Given the description of an element on the screen output the (x, y) to click on. 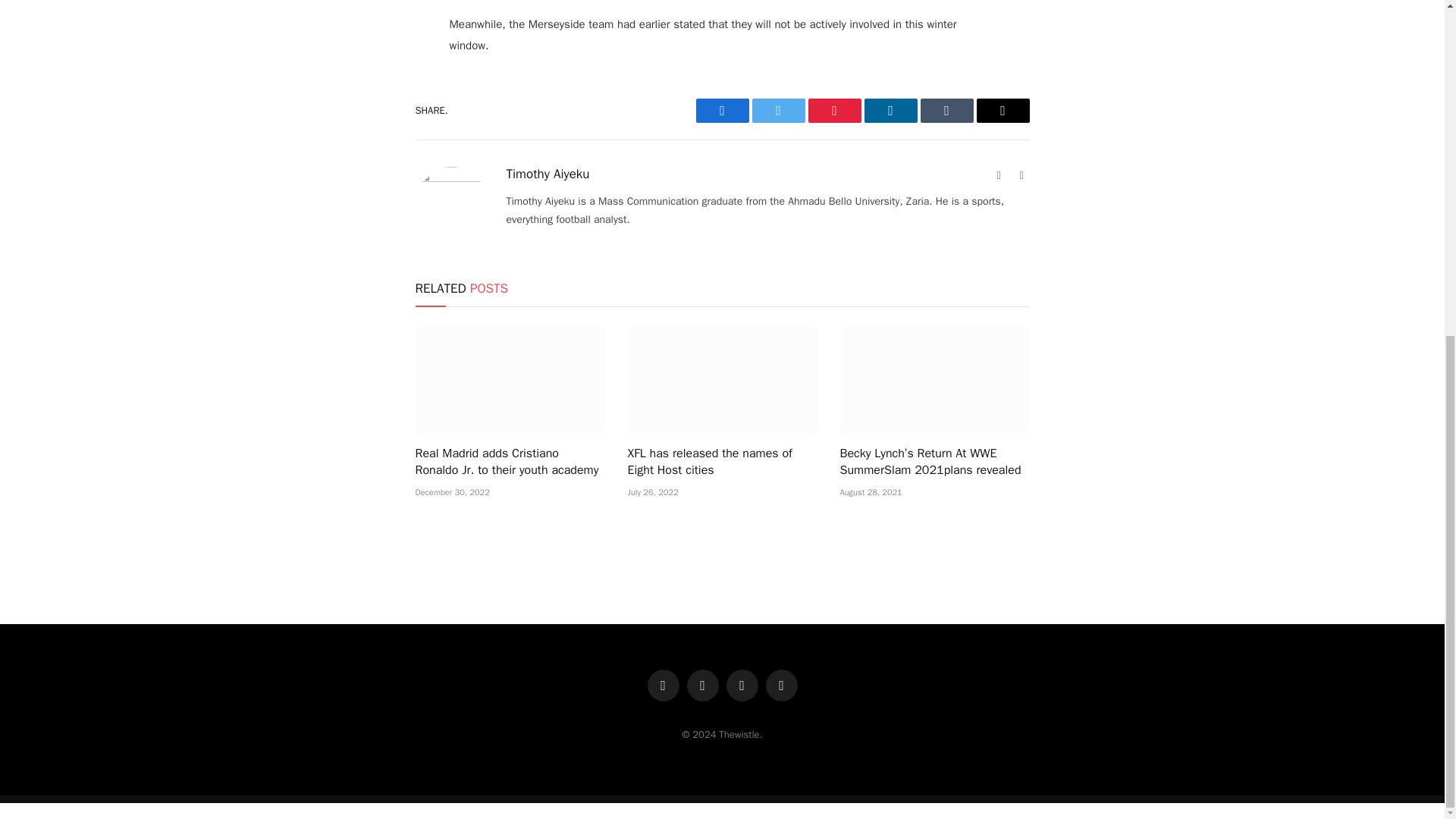
Share on LinkedIn (890, 110)
Share via Email (1002, 110)
Share on Tumblr (947, 110)
Twitter (778, 110)
Facebook (722, 110)
Share on Pinterest (834, 110)
Share on Facebook (722, 110)
Pinterest (834, 110)
